Given the description of an element on the screen output the (x, y) to click on. 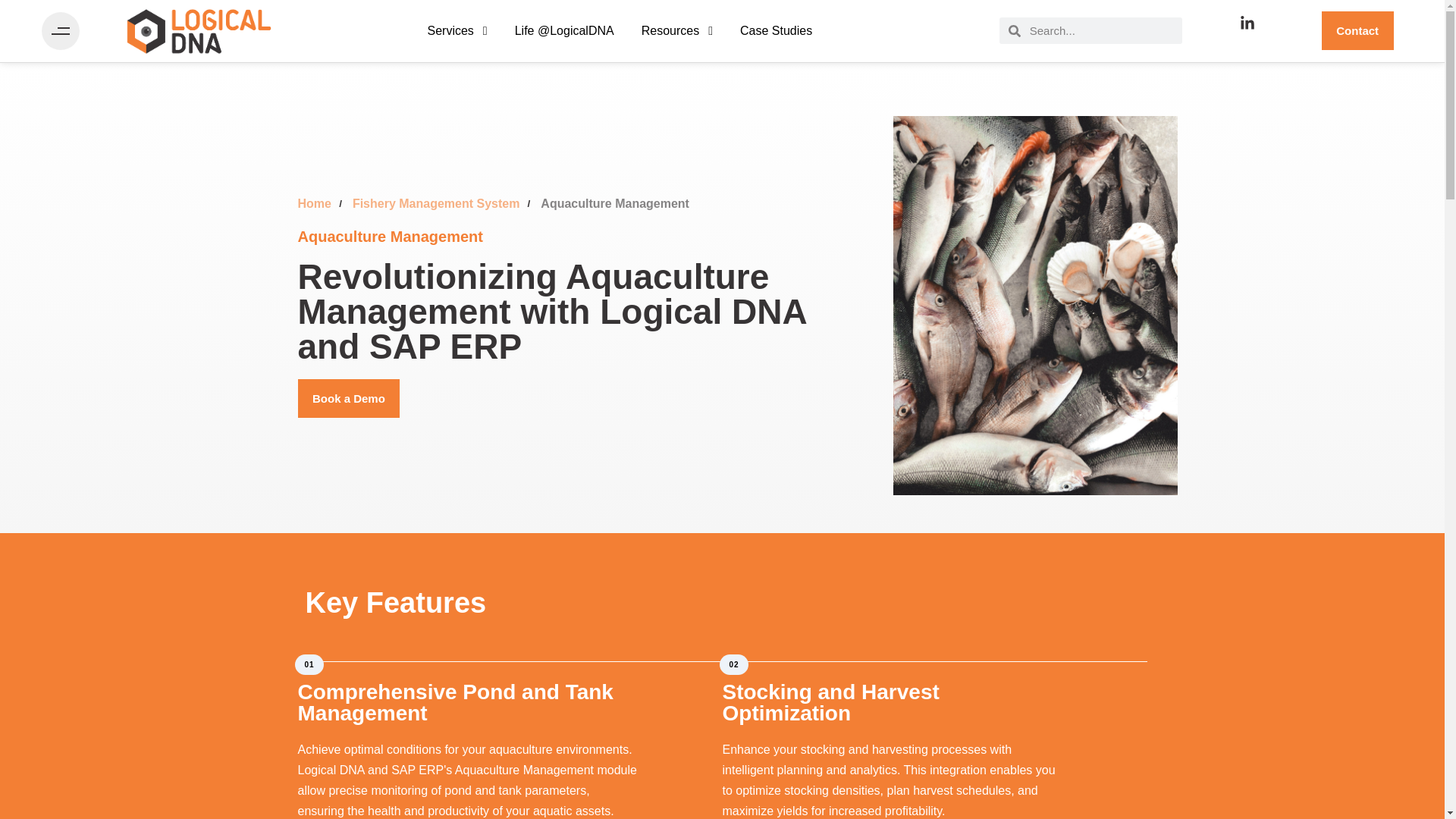
Case Studies (775, 30)
Contact (1357, 30)
Resources (676, 30)
Services (456, 30)
